Given the description of an element on the screen output the (x, y) to click on. 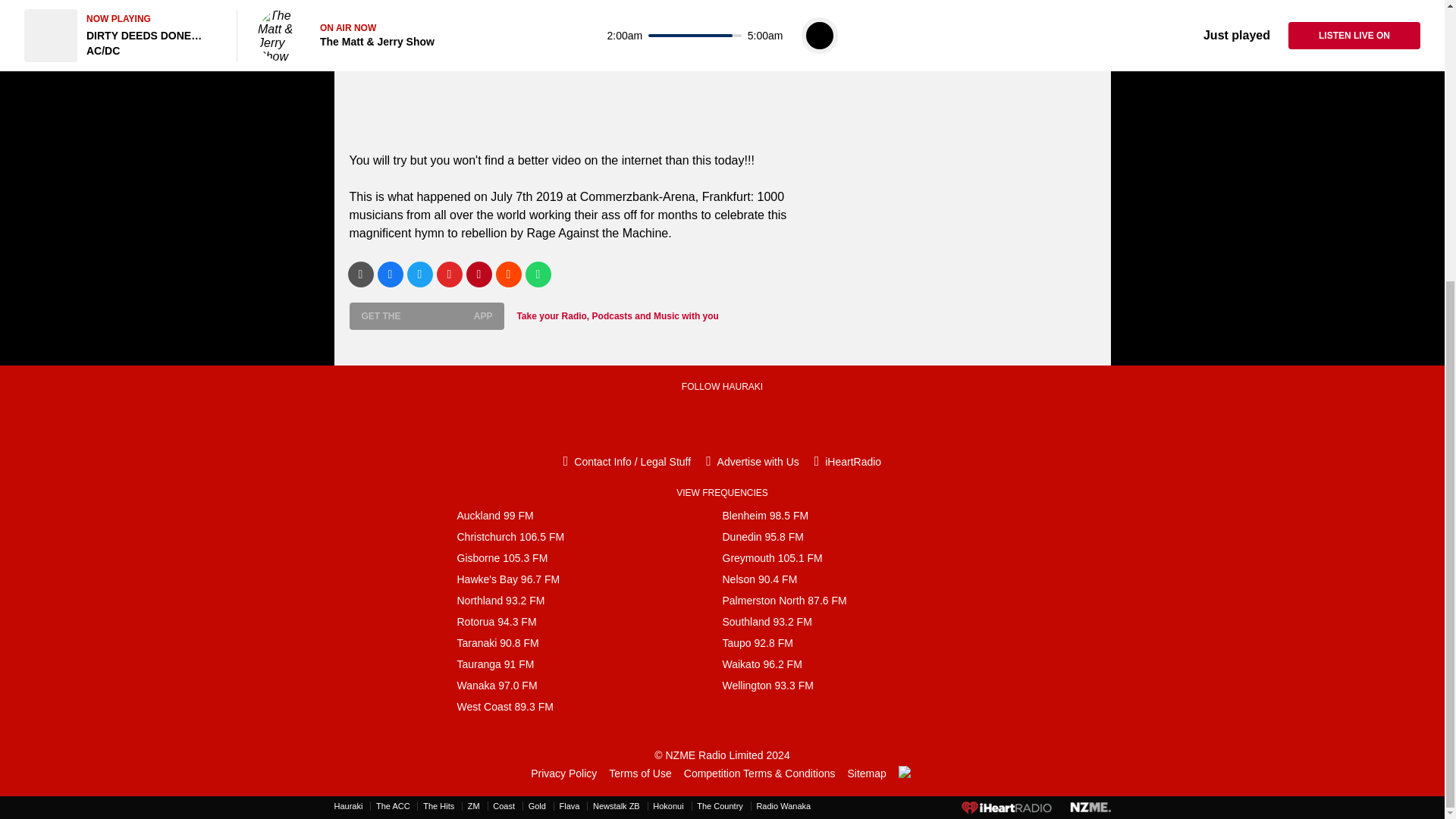
Share with email (359, 273)
Share with whatsapp (537, 273)
Share with twitter (419, 273)
Share with pinterest (478, 273)
Share with reddit (508, 273)
Share with facebook (390, 273)
Share with flipboard (449, 273)
